Given the description of an element on the screen output the (x, y) to click on. 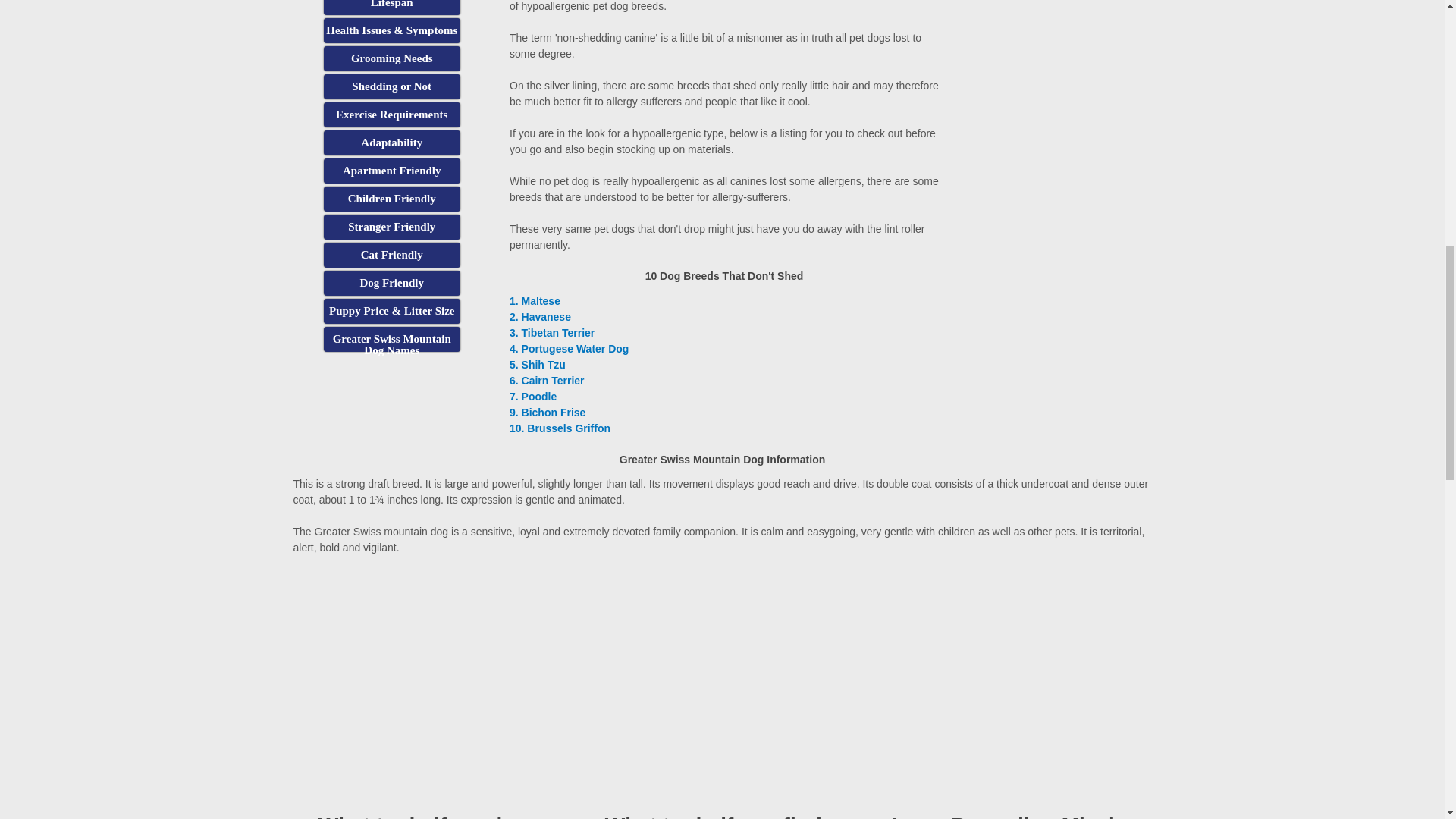
What is the lifespan of Greater Swiss Mountain Dogs? (391, 7)
Do Greater Swiss Mountain Dogs needs lot of looking after? (391, 58)
Are Greater Swiss Mountain Dogs children friendly? (391, 198)
Do Greater Swiss Mountain Dogs need lots of exercise? (391, 114)
Do Greater Swiss Mountain Dogs shed a lot? (391, 86)
Are Greater Swiss Mountain Dogs easy to adapt? (391, 142)
Can Greater Swiss Mountain Dogs live in apartments? (391, 170)
